Given the description of an element on the screen output the (x, y) to click on. 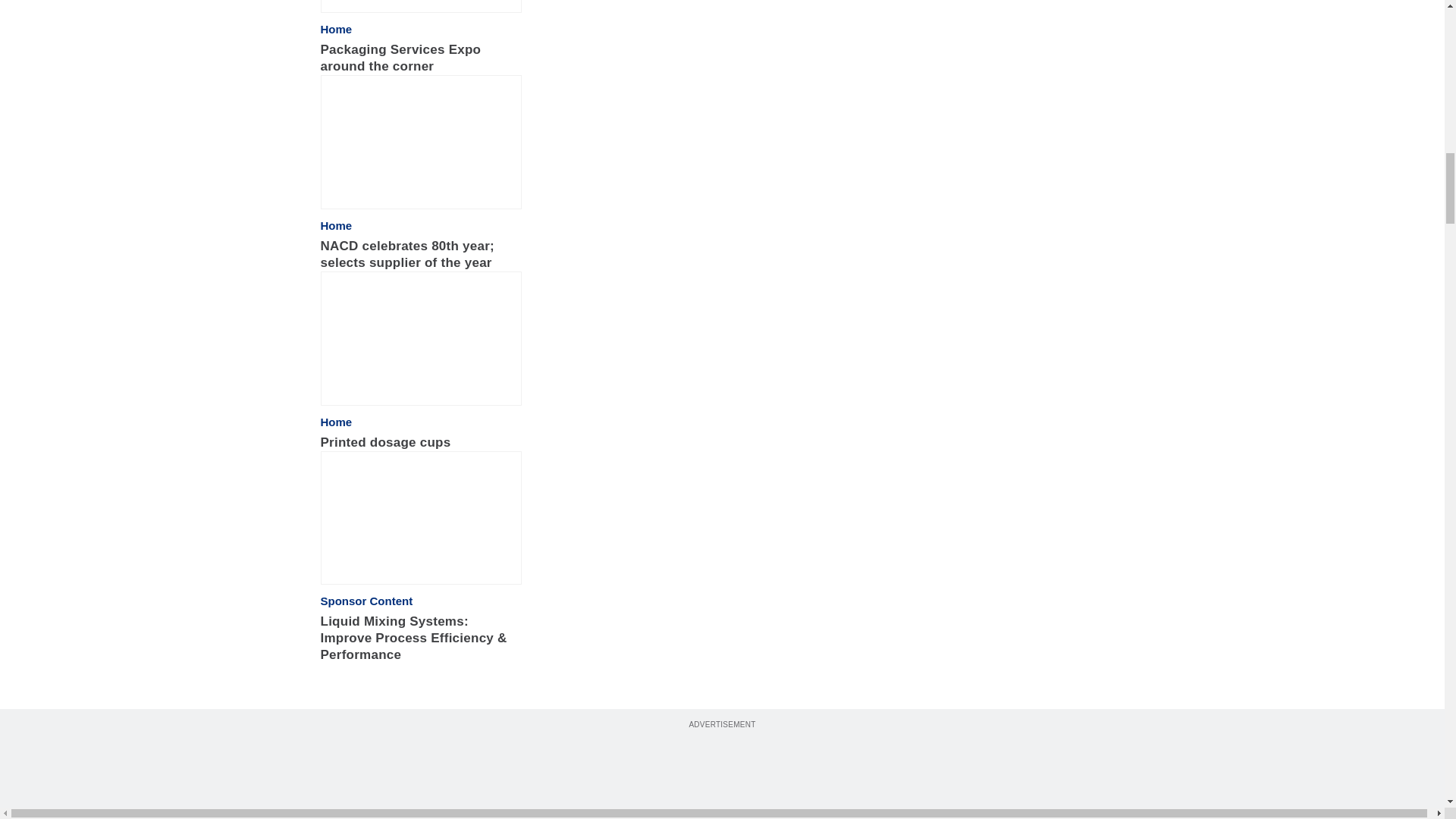
Home (336, 225)
Sponsor Content (366, 601)
Home (336, 29)
Home (336, 421)
